Given the description of an element on the screen output the (x, y) to click on. 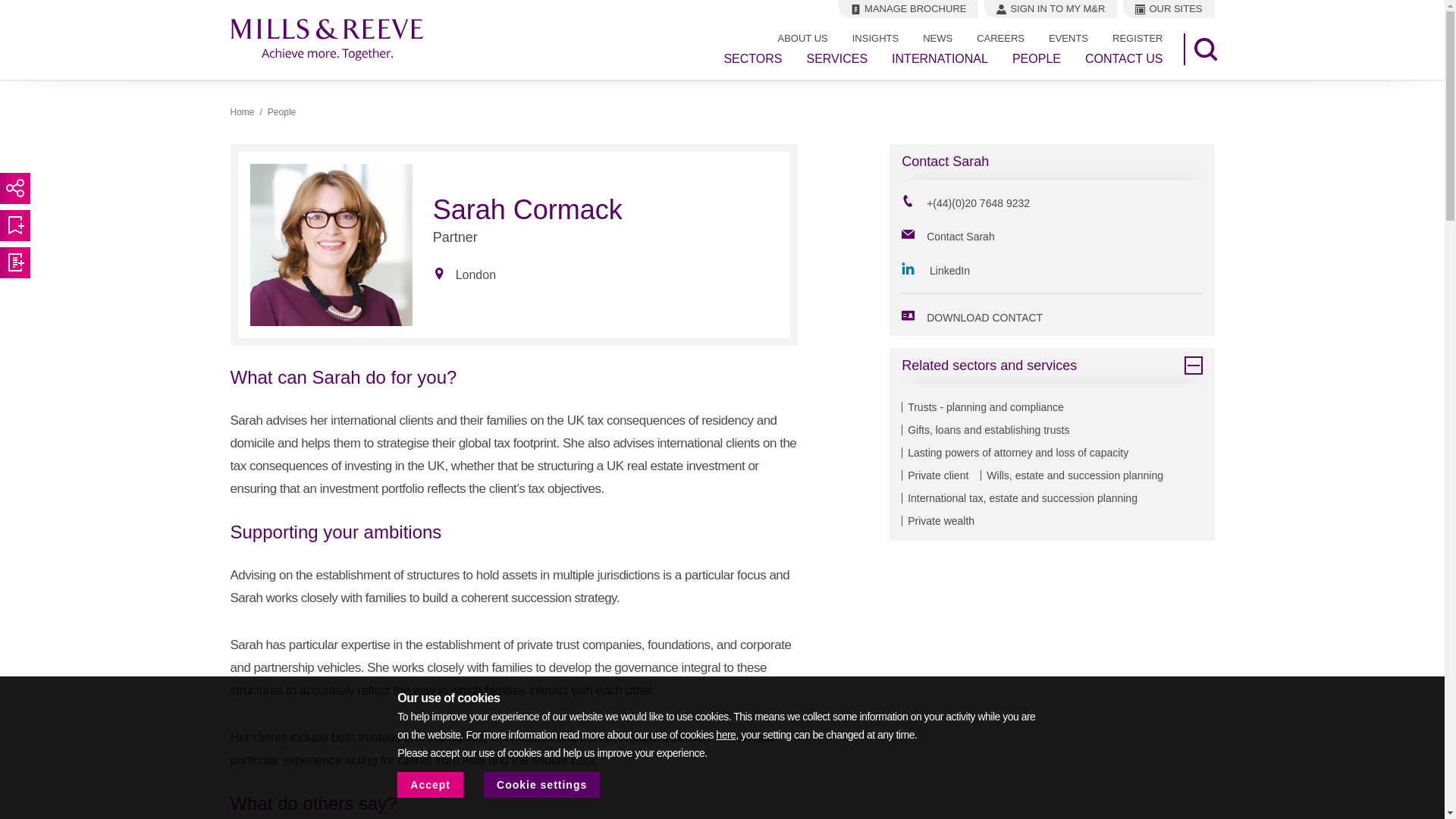
NEWS (937, 37)
OUR SITES (1168, 9)
Manage Brochure (908, 9)
SERVICES (836, 58)
SECTORS (752, 58)
MANAGE BROCHURE (908, 9)
People (281, 112)
PEOPLE (1036, 58)
CONTACT US (1123, 58)
REGISTER (1137, 37)
